Given the description of an element on the screen output the (x, y) to click on. 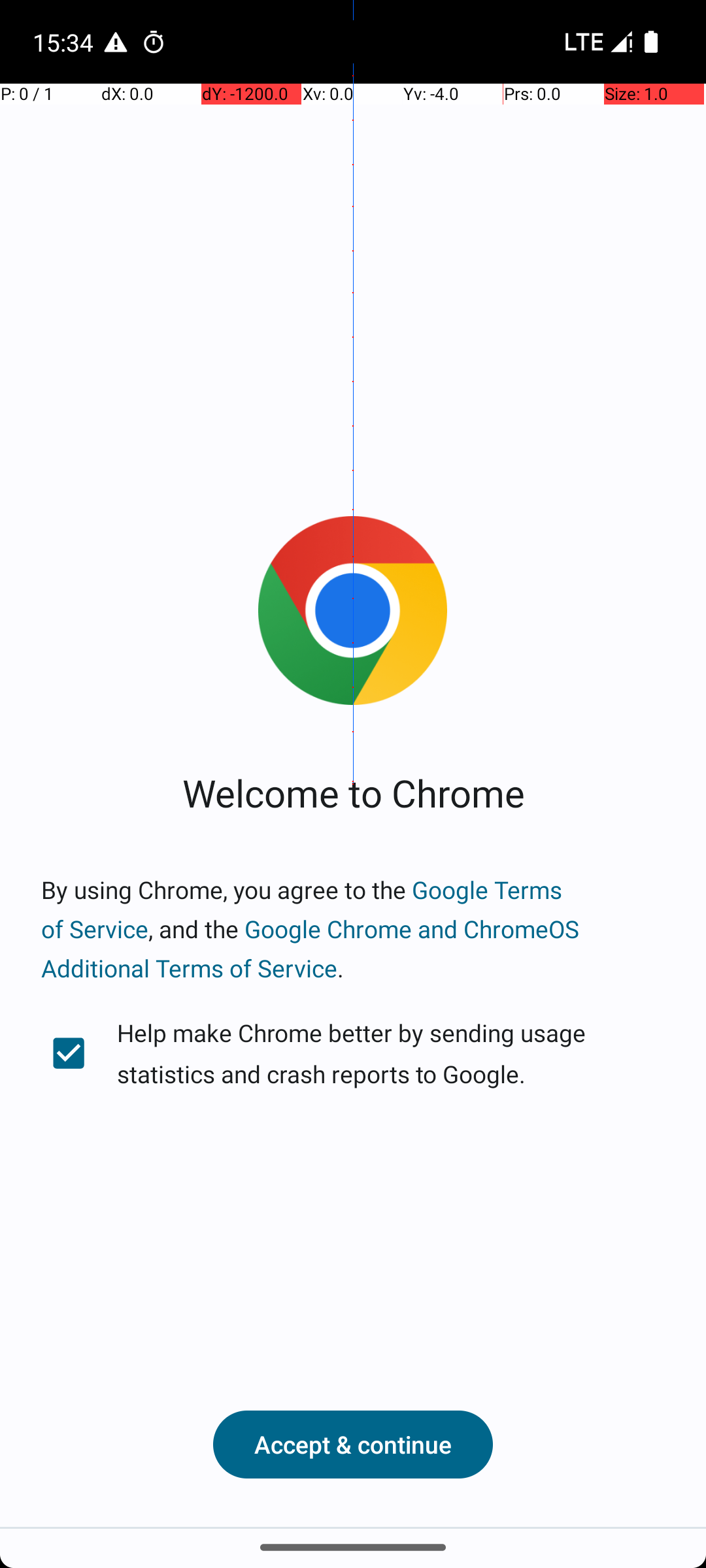
By using Chrome, you agree to the Google Terms of Service, and the Google Chrome and ChromeOS Additional Terms of Service. Element type: android.widget.TextView (352, 928)
Help make Chrome better by sending usage statistics and crash reports to Google. Element type: android.widget.CheckBox (352, 1053)
